Given the description of an element on the screen output the (x, y) to click on. 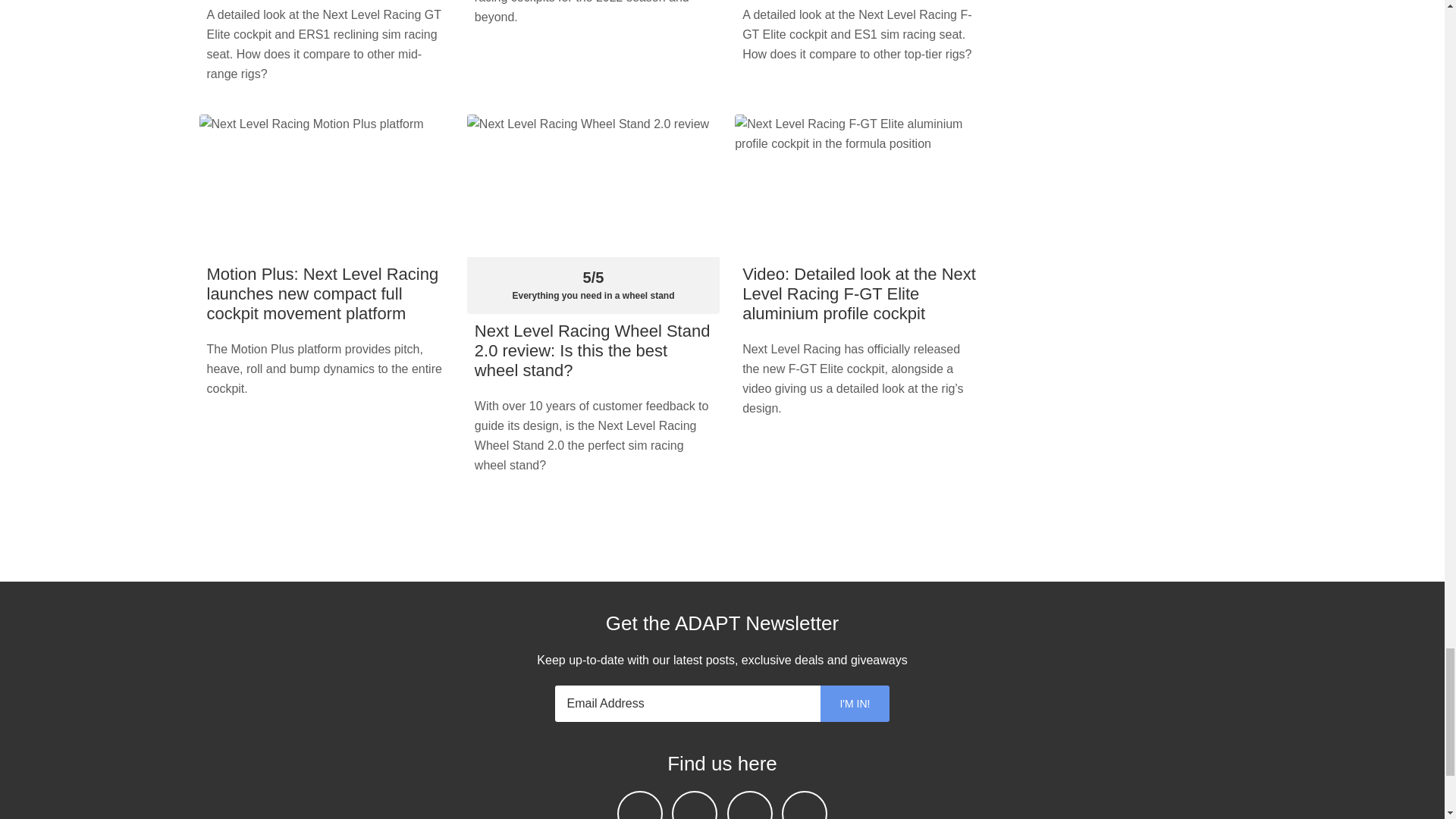
Follow us on Nostr (694, 805)
I'm in! (854, 703)
